Given the description of an element on the screen output the (x, y) to click on. 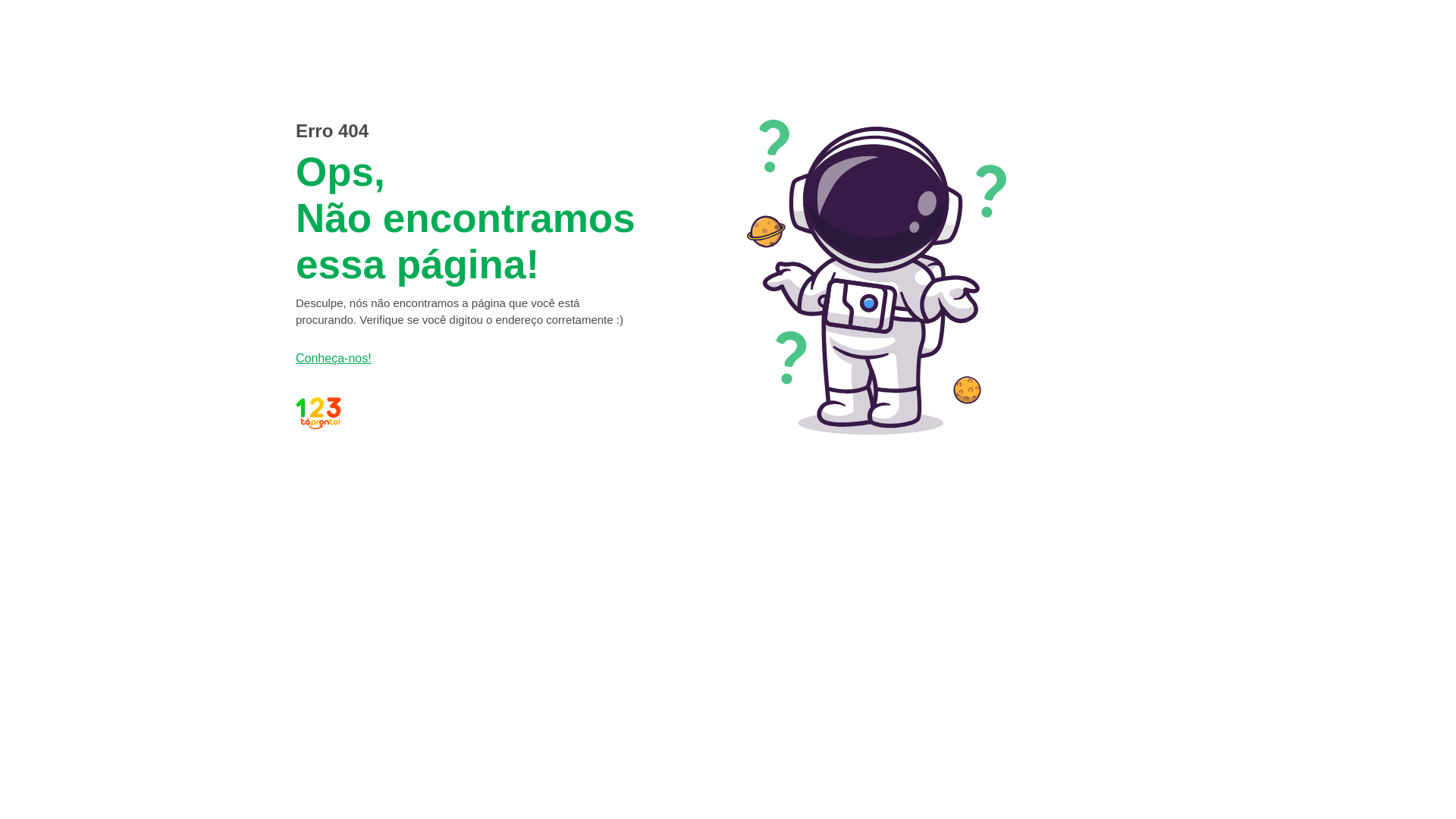
123tapronto.com Element type: hover (469, 413)
